Given the description of an element on the screen output the (x, y) to click on. 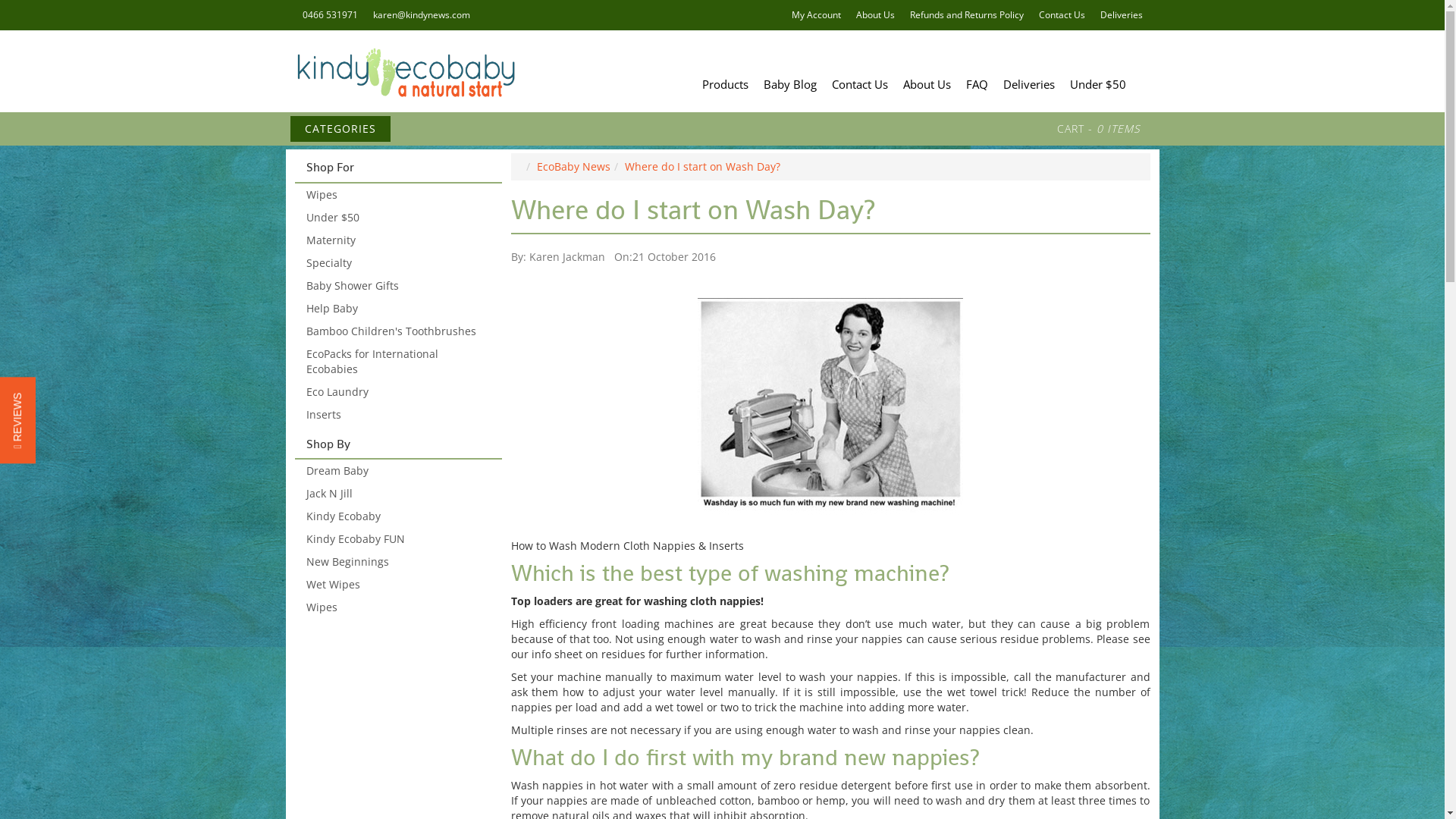
Under $50 Element type: text (397, 217)
Wipes Element type: text (397, 607)
Baby Shower Gifts Element type: text (397, 285)
Contact Us Element type: text (1061, 15)
Help Baby Element type: text (397, 308)
Shop For Element type: text (398, 167)
CATEGORIES Element type: text (339, 128)
Eco Laundry Element type: text (397, 391)
Specialty Element type: text (397, 262)
About Us Element type: text (874, 15)
0466 531971 Element type: text (329, 15)
My Account Element type: text (816, 15)
Shop By Element type: text (398, 444)
Deliveries Element type: text (1120, 15)
New Beginnings Element type: text (397, 561)
Baby Blog Element type: text (789, 84)
Products Element type: text (725, 84)
Bamboo Children's Toothbrushes Element type: text (397, 331)
Wipes Element type: text (397, 194)
EcoPacks for International Ecobabies Element type: text (397, 361)
Wet Wipes Element type: text (397, 584)
Deliveries Element type: text (1027, 84)
Kindy Ecobaby Element type: hover (403, 71)
Maternity Element type: text (397, 240)
FAQ Element type: text (976, 84)
EcoBaby News Element type: text (573, 166)
Kindy Ecobaby Element type: text (397, 516)
Kindy Ecobaby FUN Element type: text (397, 538)
Refunds and Returns Policy Element type: text (966, 15)
karen@kindynews.com Element type: text (421, 15)
CART - 0 ITEMS Element type: text (1097, 128)
Where do I start on Wash Day? Element type: text (702, 166)
Jack N Jill Element type: text (397, 493)
Contact Us Element type: text (858, 84)
Inserts Element type: text (397, 414)
About Us Element type: text (925, 84)
Dream Baby Element type: text (397, 470)
Under $50 Element type: text (1096, 84)
